Given the description of an element on the screen output the (x, y) to click on. 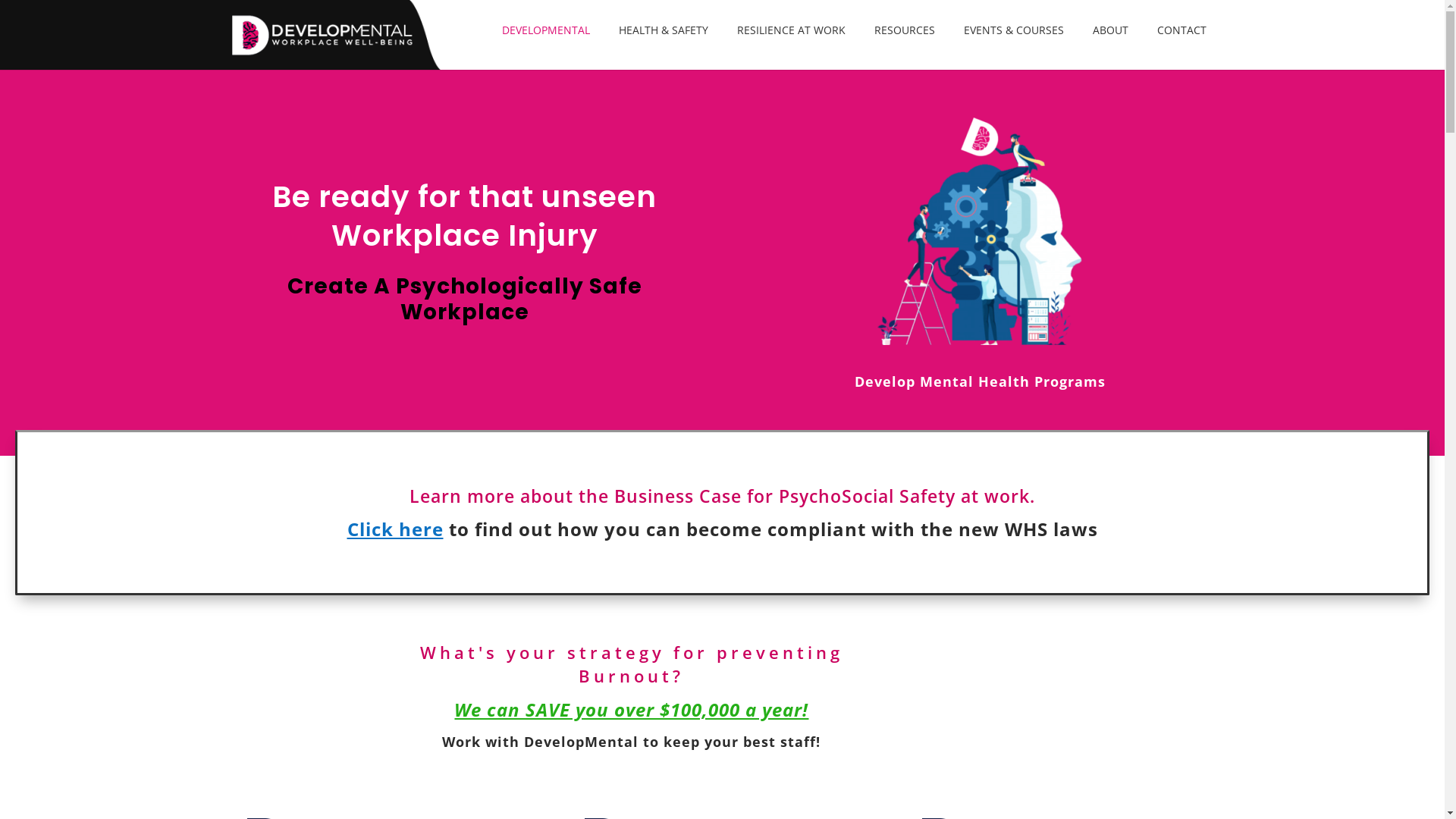
DEVELOPMENTAL Element type: text (545, 47)
ABOUT Element type: text (1109, 47)
RESILIENCE AT WORK Element type: text (791, 47)
banner Element type: hover (979, 231)
EVENTS & COURSES Element type: text (1013, 47)
HEALTH & SAFETY Element type: text (663, 47)
RESOURCES Element type: text (903, 47)
CONTACT Element type: text (1181, 47)
Develop Mental Health Programs Element type: text (979, 381)
